Given the description of an element on the screen output the (x, y) to click on. 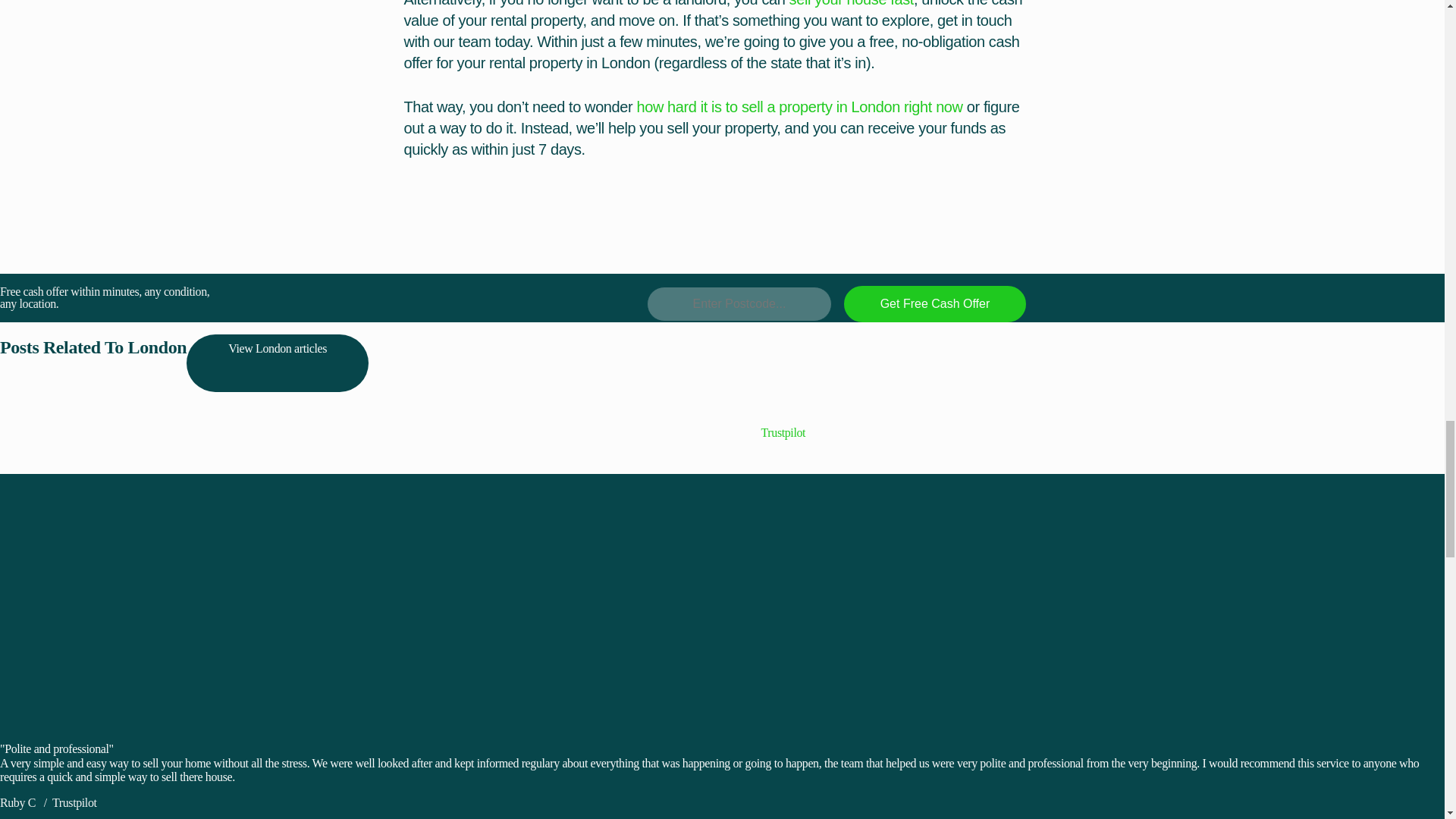
View London articles (277, 362)
Get Free Cash Offer (935, 303)
how hard it is to sell a property in London right now (799, 106)
sell your house fast (851, 3)
